Given the description of an element on the screen output the (x, y) to click on. 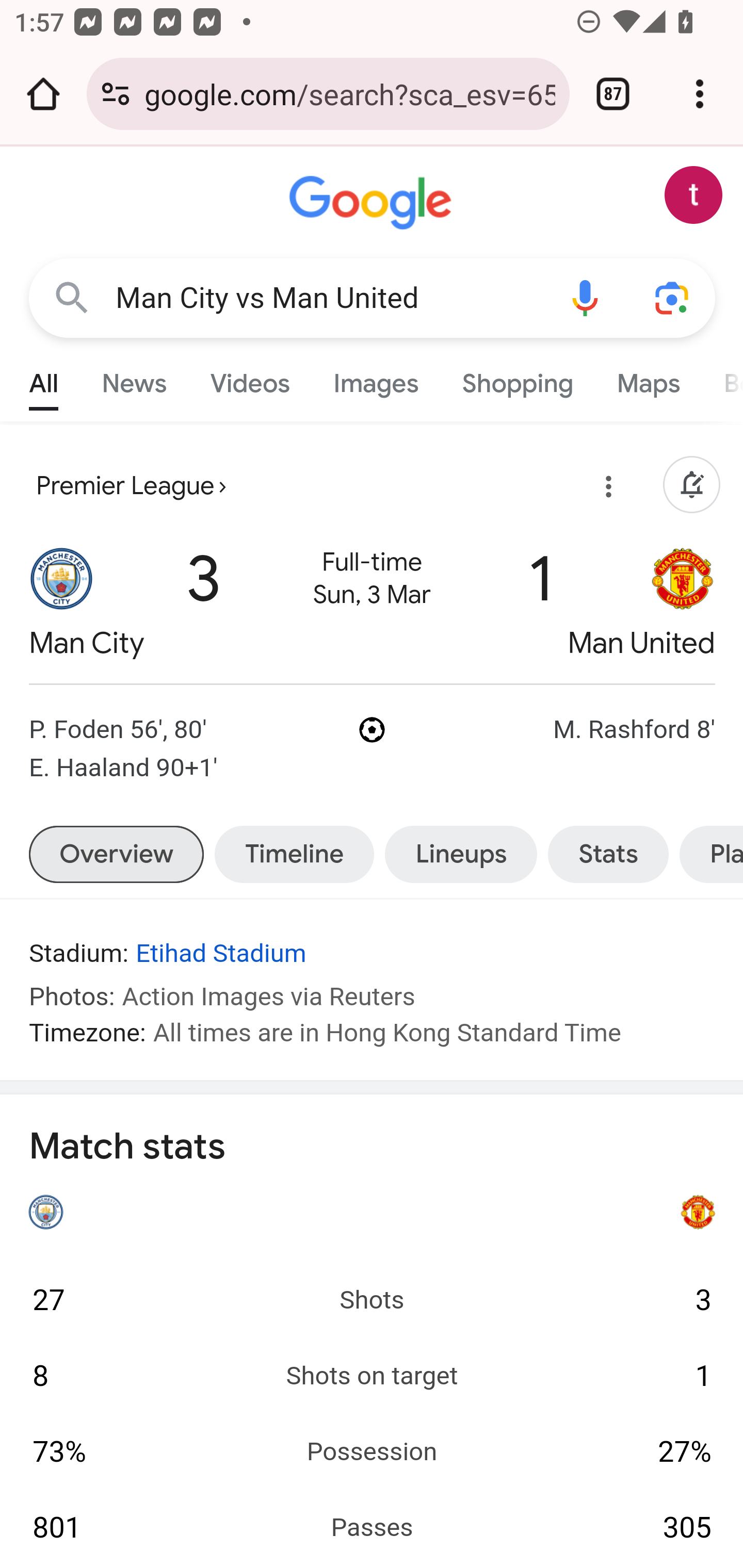
Open the home page (43, 93)
Connection is secure (115, 93)
Switch or close tabs (612, 93)
Customize and control Google Chrome (699, 93)
Google (372, 203)
Google Search (71, 296)
Search using your camera or photos (672, 296)
Man City vs Man United (328, 297)
News (134, 378)
Videos (249, 378)
Images (376, 378)
Shopping (516, 378)
Maps (647, 378)
Notifications (691, 485)
Premier League› Premier League › (131, 485)
More options (605, 489)
Man City (61, 603)
Man United (683, 603)
Overview (116, 854)
Timeline (293, 854)
Lineups (460, 854)
Stats (608, 854)
Etihad Stadium (220, 954)
